Given the description of an element on the screen output the (x, y) to click on. 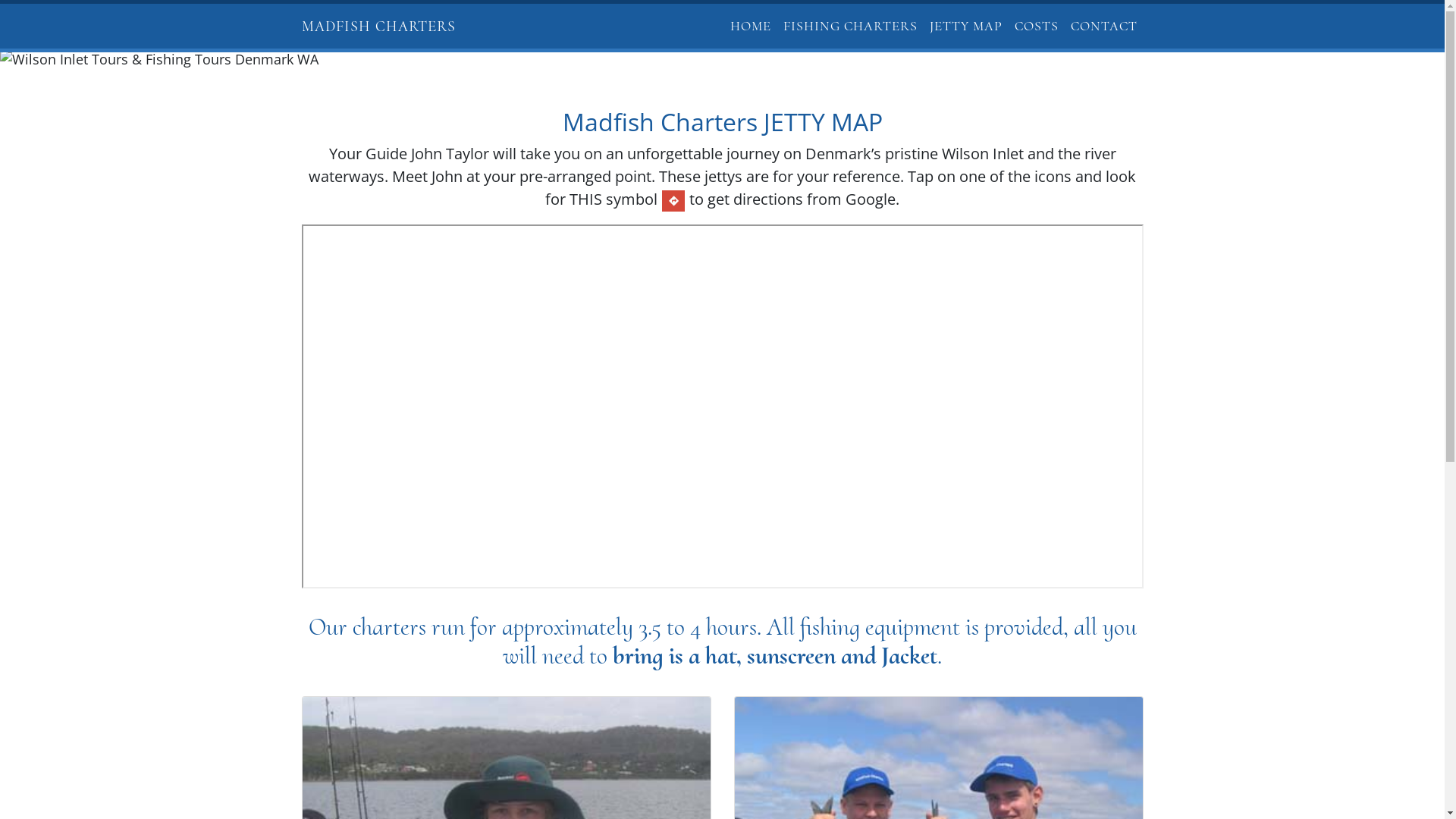
HOME
(CURRENT) Element type: text (749, 25)
JETTY MAP Element type: text (965, 25)
MADFISH CHARTERS Element type: text (378, 25)
CONTACT Element type: text (1103, 25)
FISHING CHARTERS Element type: text (849, 25)
COSTS Element type: text (1036, 25)
